Given the description of an element on the screen output the (x, y) to click on. 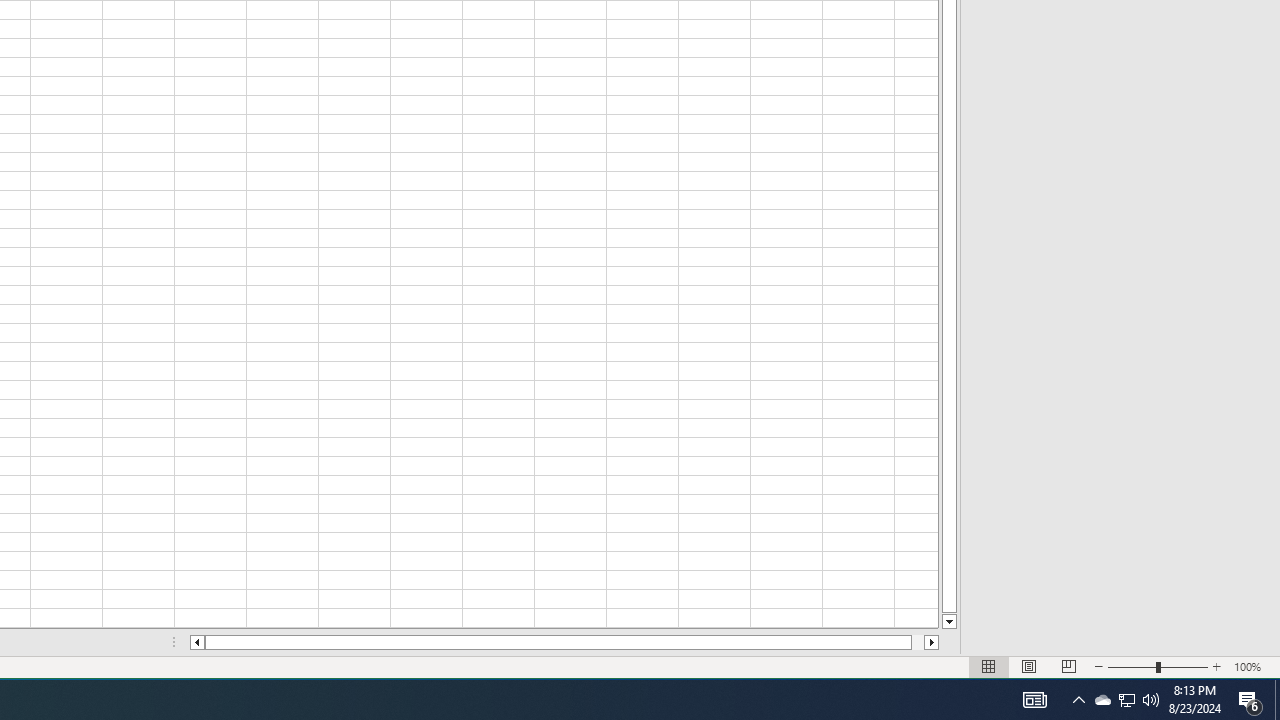
User Promoted Notification Area (1126, 699)
